Given the description of an element on the screen output the (x, y) to click on. 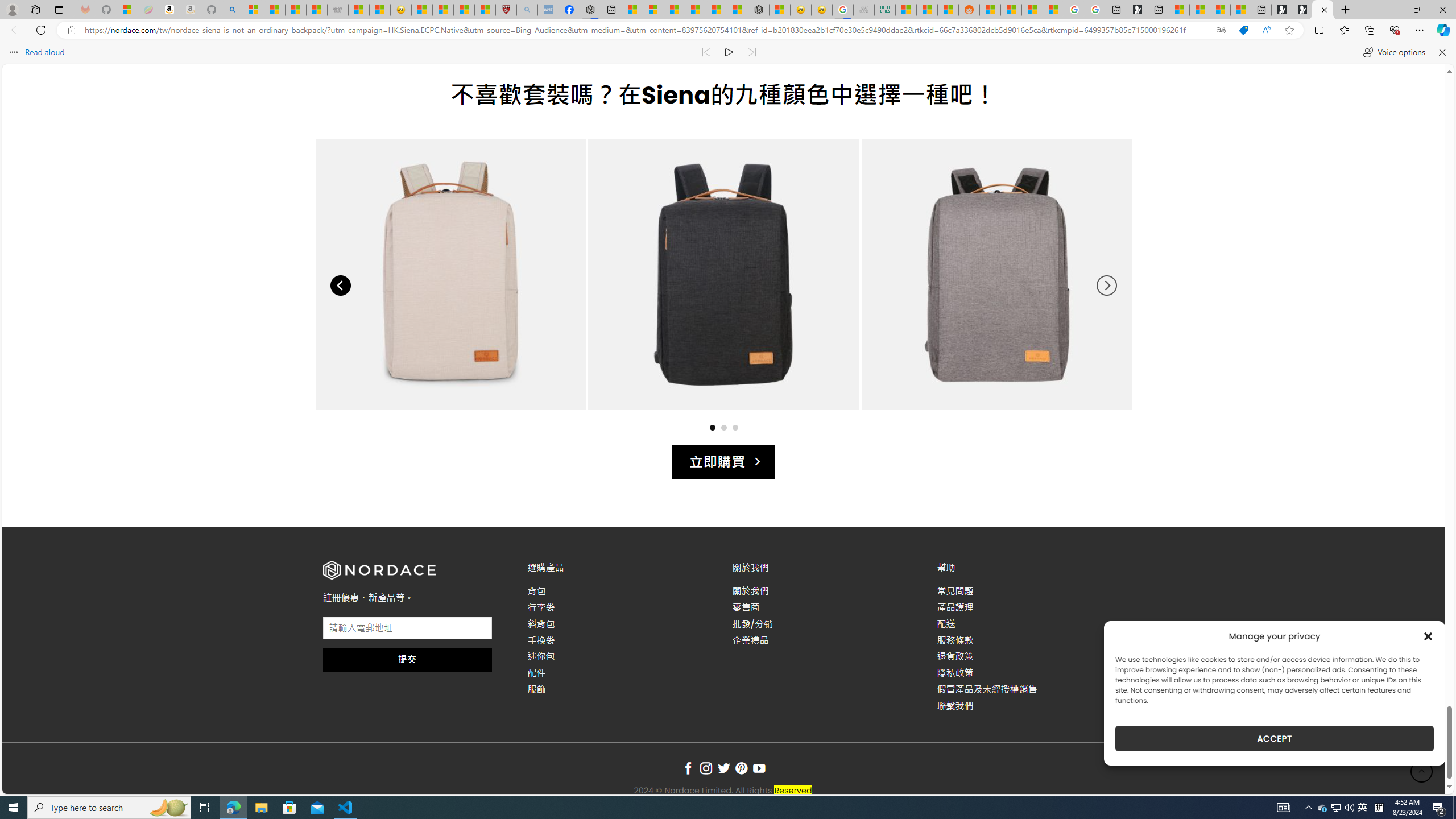
Stocks - MSN (316, 9)
DITOGAMES AG Imprint (884, 9)
